Given the description of an element on the screen output the (x, y) to click on. 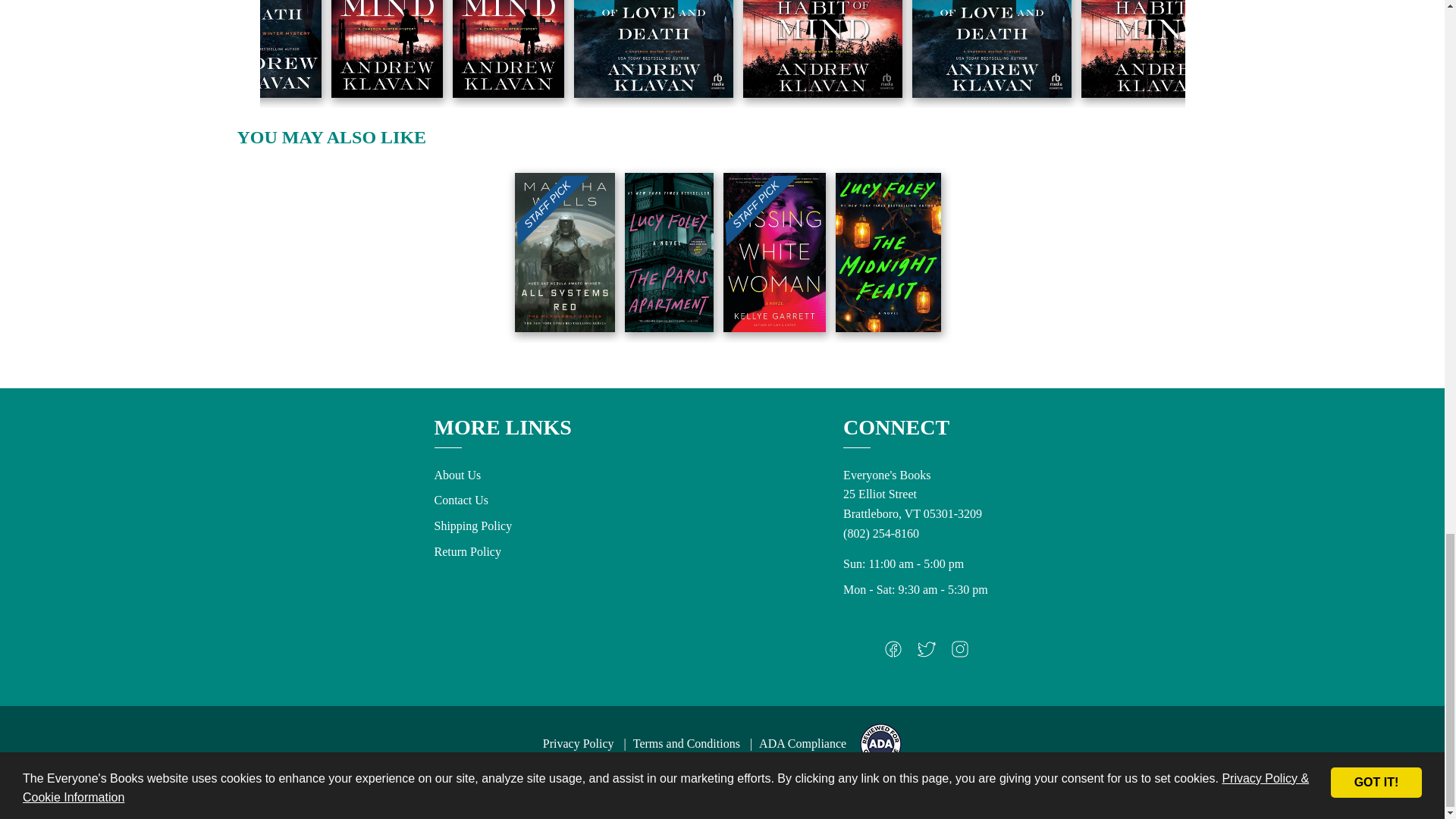
Connect with Facebook (892, 652)
Connect with Twitter (926, 652)
Connect with Instagram (959, 652)
